Given the description of an element on the screen output the (x, y) to click on. 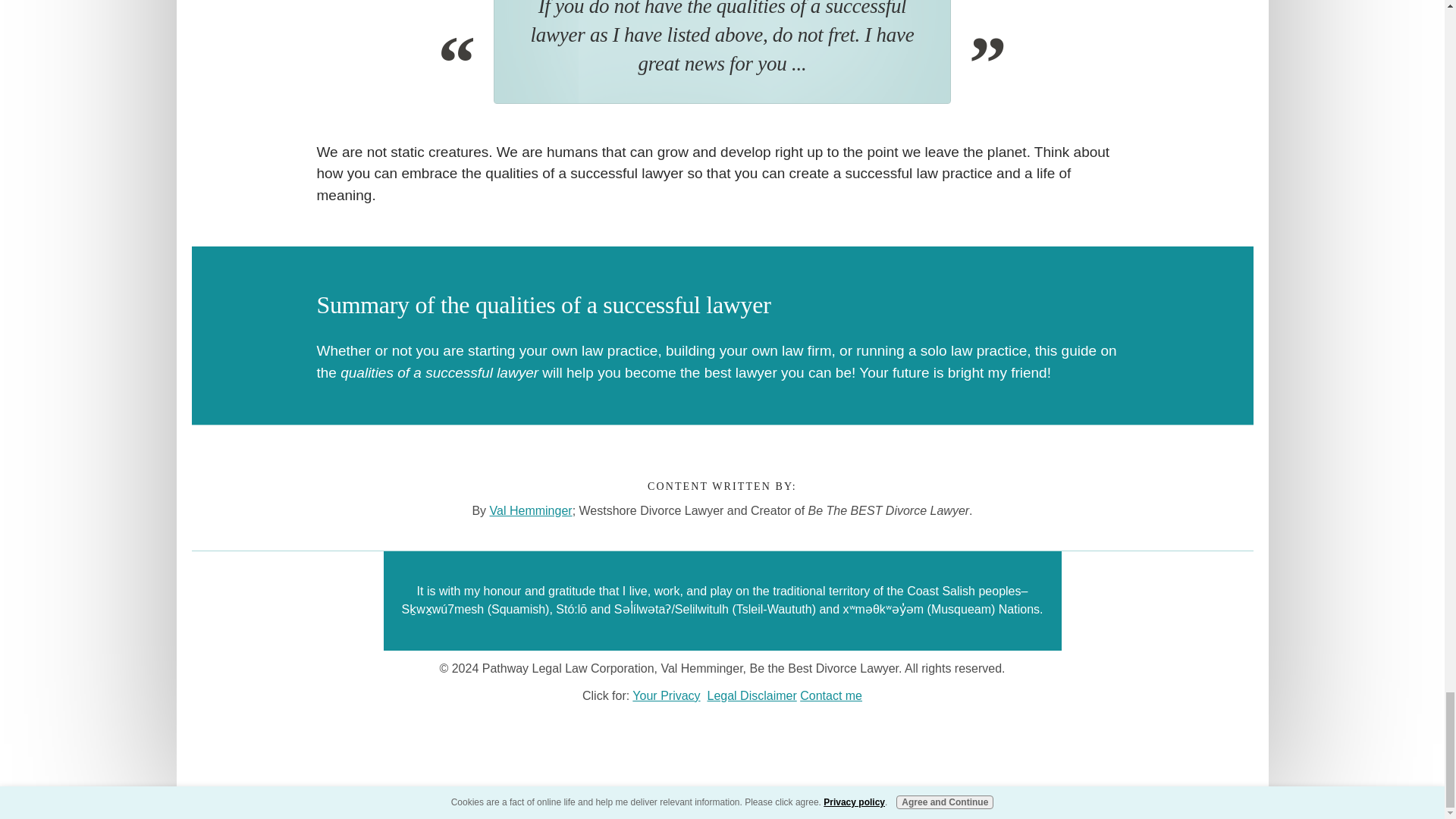
Val Hemminger (530, 510)
Contact me (830, 695)
Val Hemminger (722, 423)
Legal Disclaimer (751, 695)
Your Privacy (665, 695)
